Given the description of an element on the screen output the (x, y) to click on. 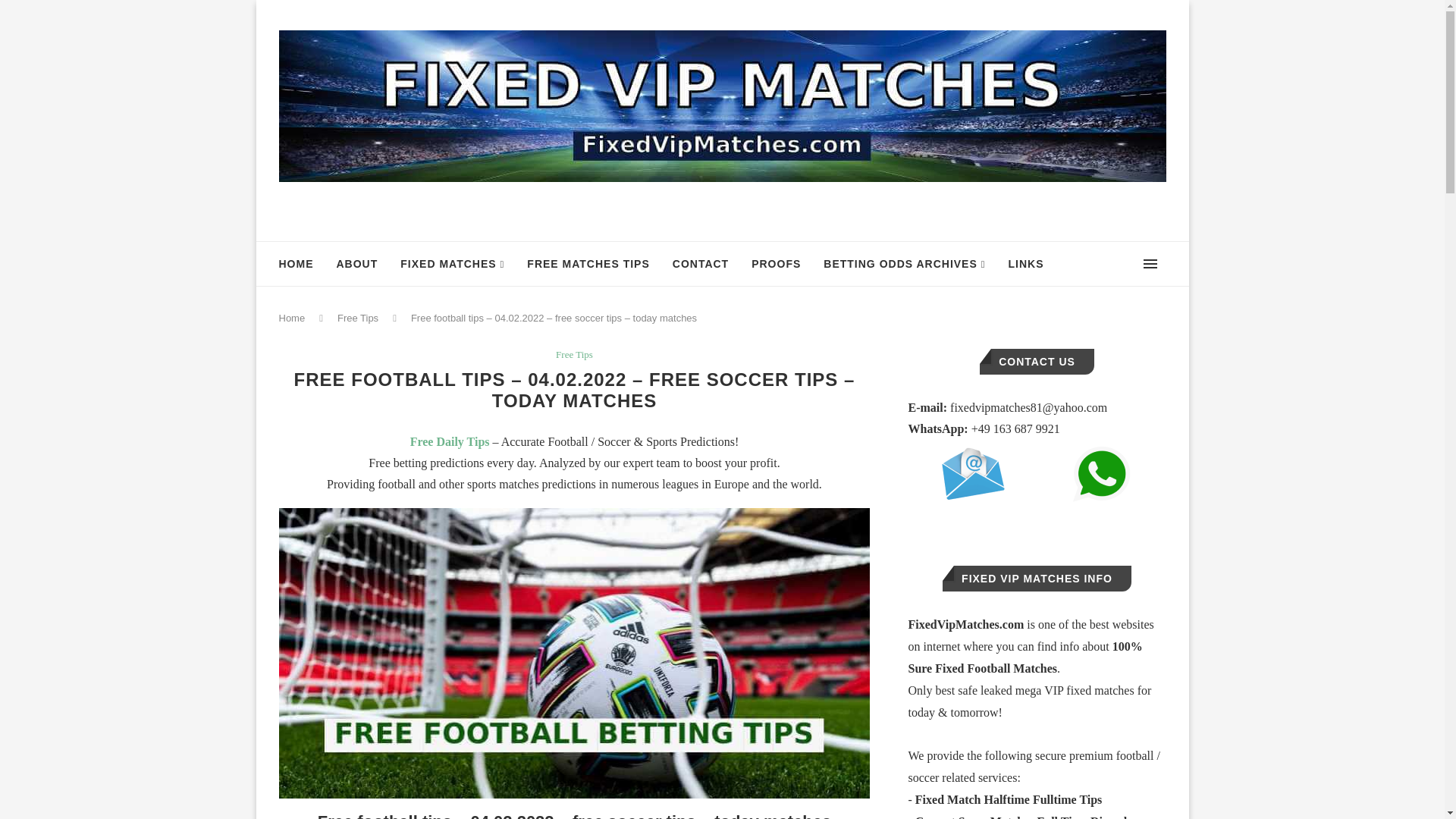
Home (292, 317)
FREE MATCHES TIPS (588, 263)
Fixed Match Halftime Fulltime Tips (1008, 799)
CONTACT (700, 263)
Correct Score Matches Full Time Rigged Results (1017, 816)
Free Daily Tips (449, 440)
FIXED MATCHES (451, 263)
Free Tips (574, 354)
BETTING ODDS ARCHIVES (904, 263)
ABOUT (357, 263)
Free Tips (357, 317)
Free Daily Tips (449, 440)
PROOFS (775, 263)
